Given the description of an element on the screen output the (x, y) to click on. 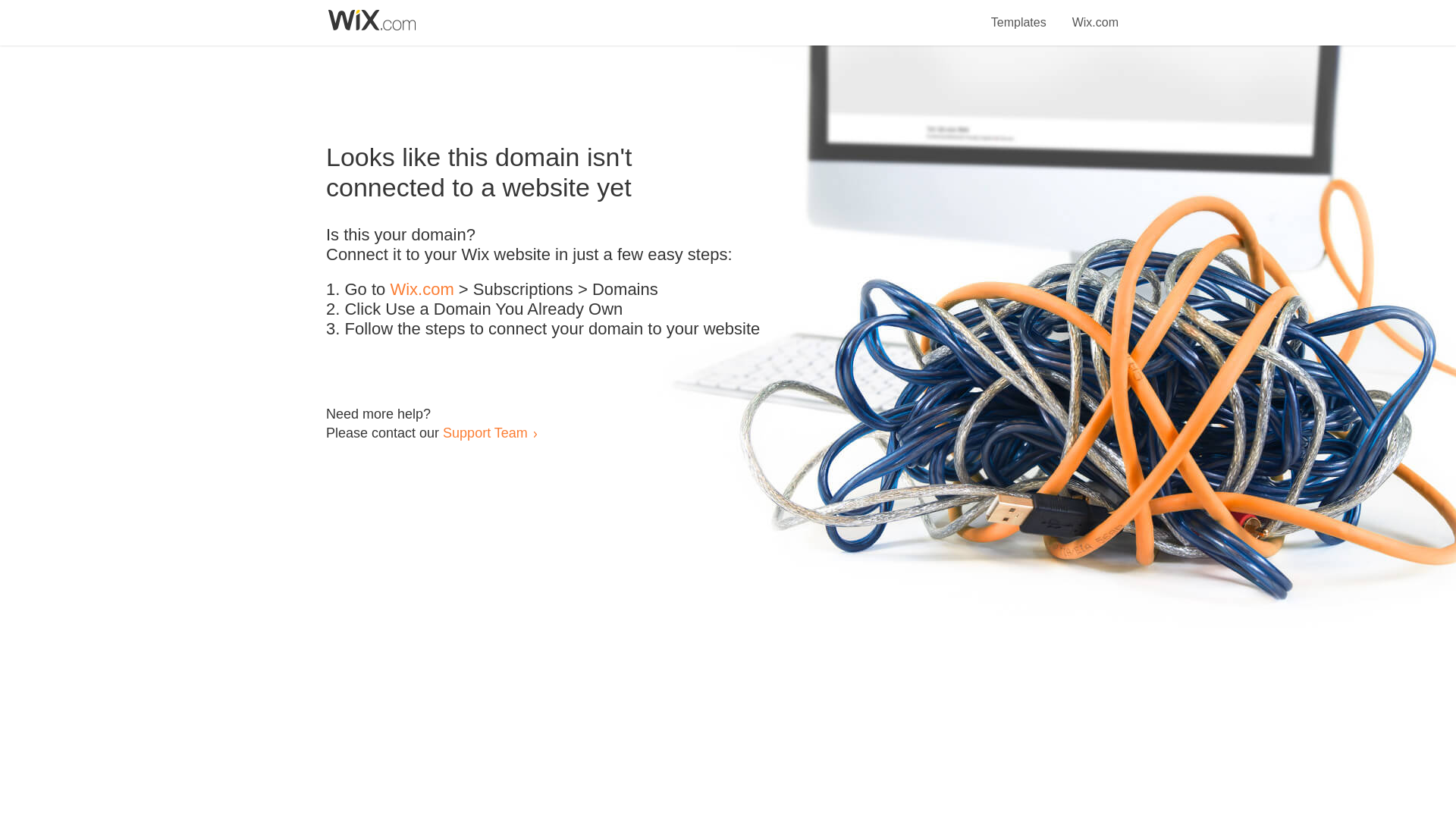
Templates (1018, 14)
Wix.com (421, 289)
Wix.com (1095, 14)
Support Team (484, 432)
